Given the description of an element on the screen output the (x, y) to click on. 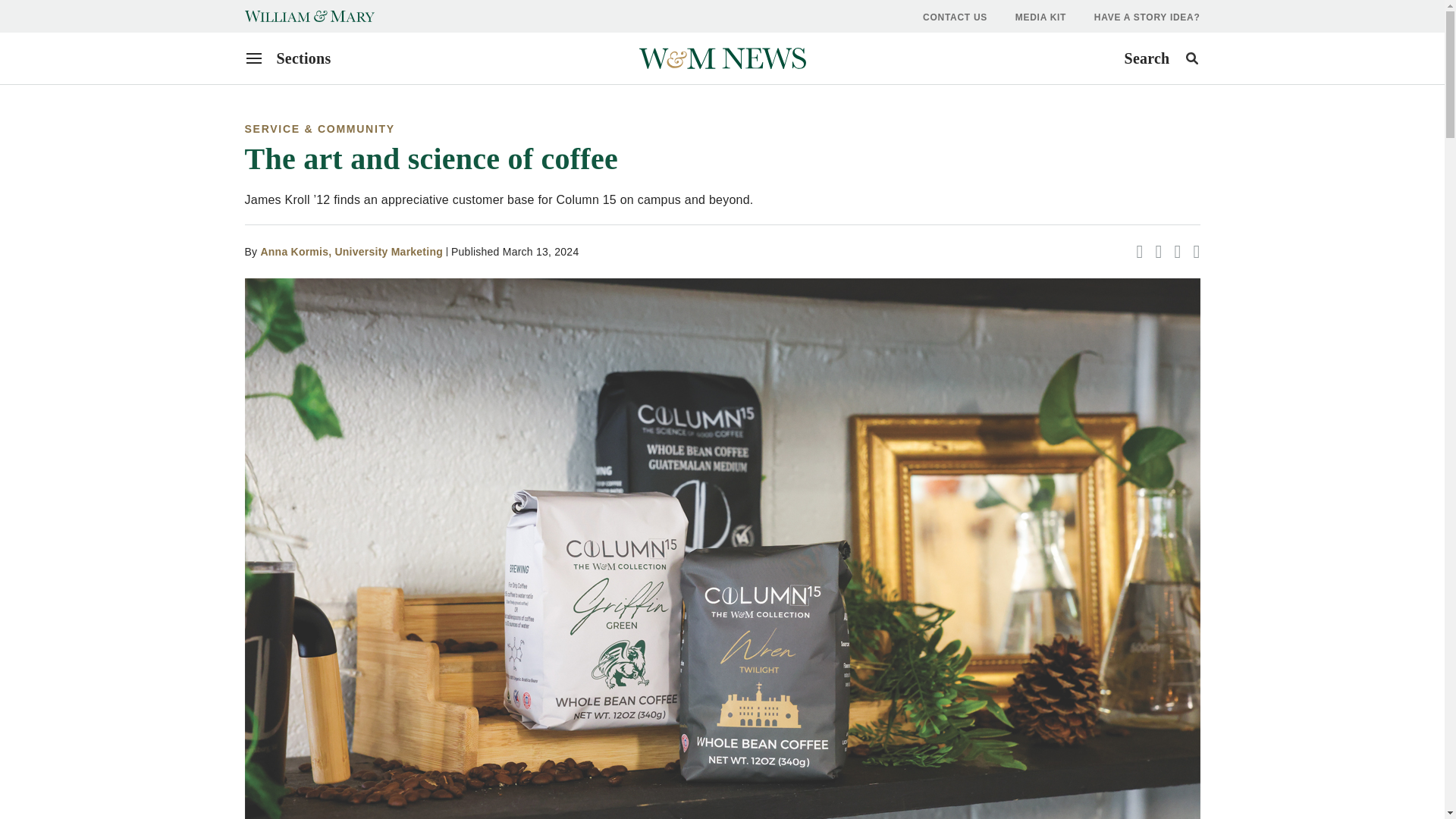
Sections (288, 58)
share by email (1138, 250)
share on X (1176, 250)
MEDIA KIT (1039, 17)
Anna Kormis, University Marketing (351, 251)
CONTACT US (955, 17)
share on LinkedIn (1161, 58)
Stories by Guest Contributors (1195, 250)
share on Facebook (351, 251)
HAVE A STORY IDEA? (1157, 250)
